Given the description of an element on the screen output the (x, y) to click on. 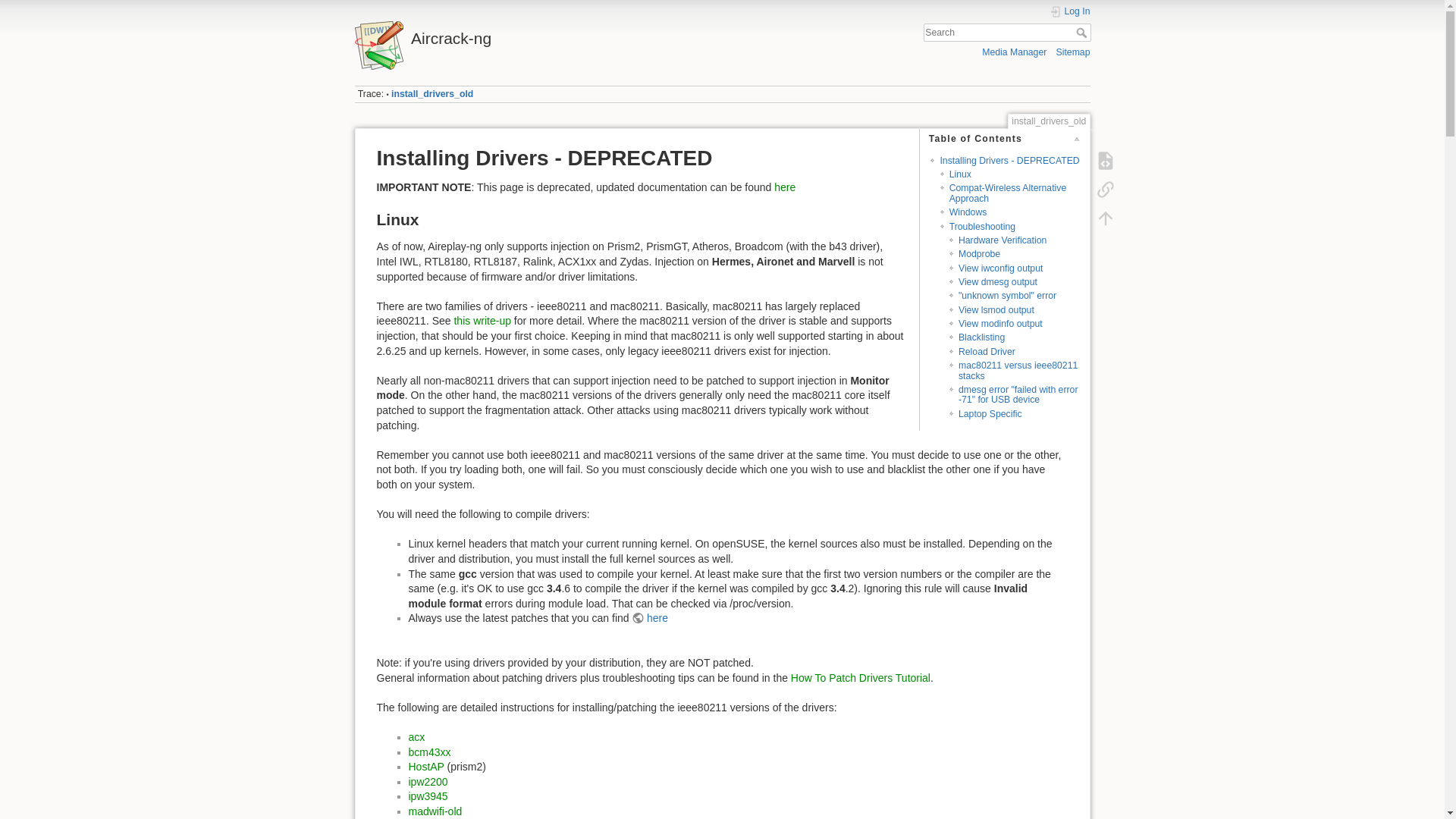
acx (416, 736)
mac80211 versus ieee80211 stacks (1017, 370)
patching (860, 677)
Log In (1069, 11)
Media Manager (1013, 51)
Search (1082, 32)
acx (416, 736)
ipw2200 (426, 781)
Installing Drivers - DEPRECATED (1008, 160)
View dmesg output (997, 281)
Reload Driver (986, 351)
Modprobe (979, 253)
Log In (1069, 11)
Search (1082, 32)
Windows (968, 212)
